Given the description of an element on the screen output the (x, y) to click on. 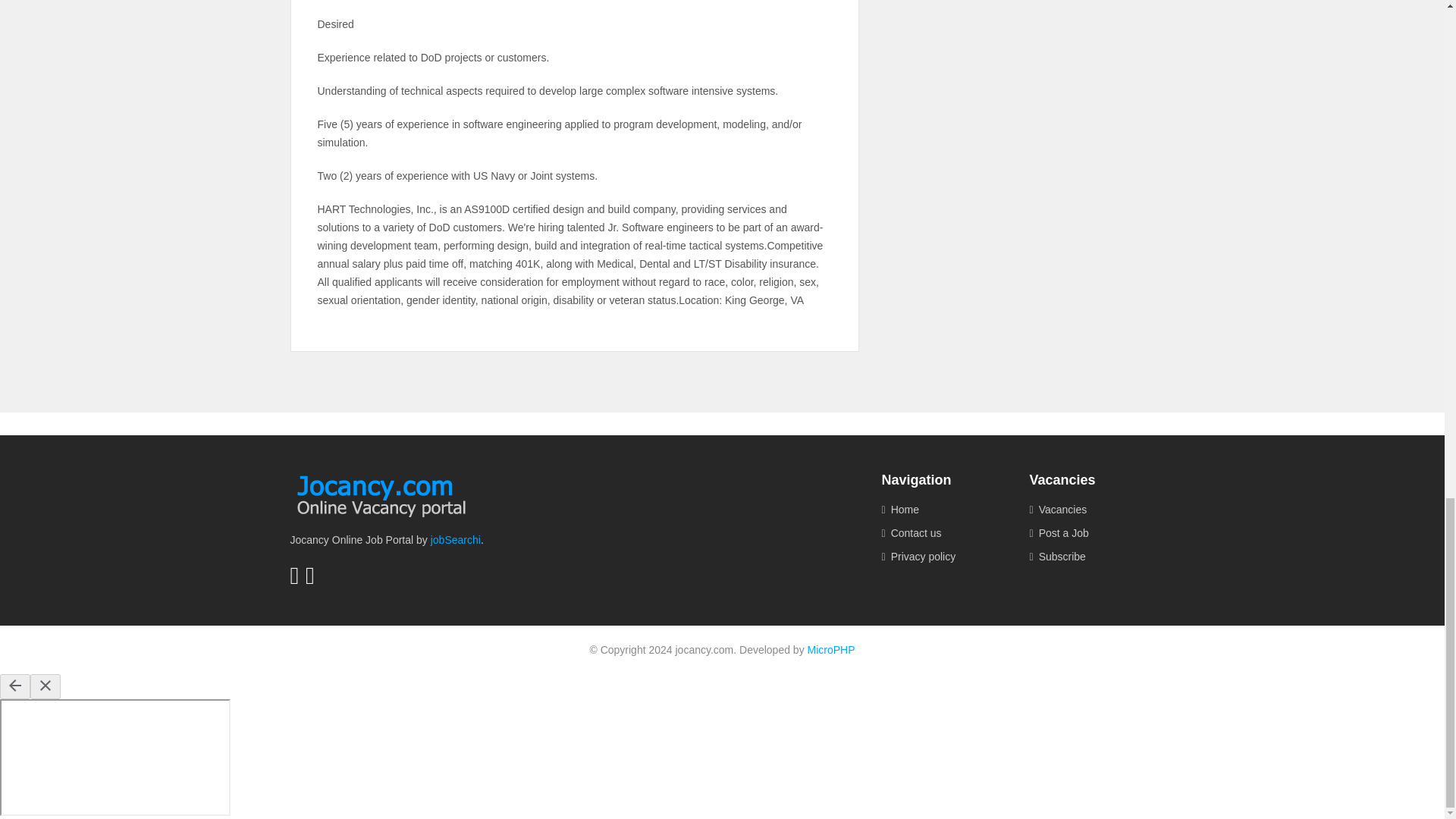
Privacy policy (943, 556)
Subscribe (1091, 556)
MicroPHP (832, 649)
Vacancies (1091, 509)
Home (943, 509)
Post a Job (1091, 533)
jobSearchi (455, 539)
Contact us (943, 533)
